Given the description of an element on the screen output the (x, y) to click on. 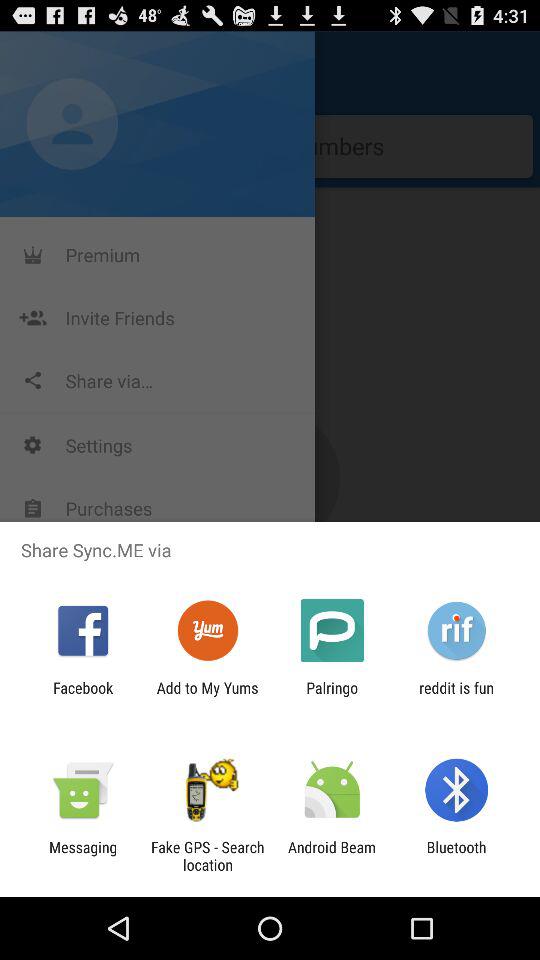
flip until the bluetooth item (456, 856)
